Given the description of an element on the screen output the (x, y) to click on. 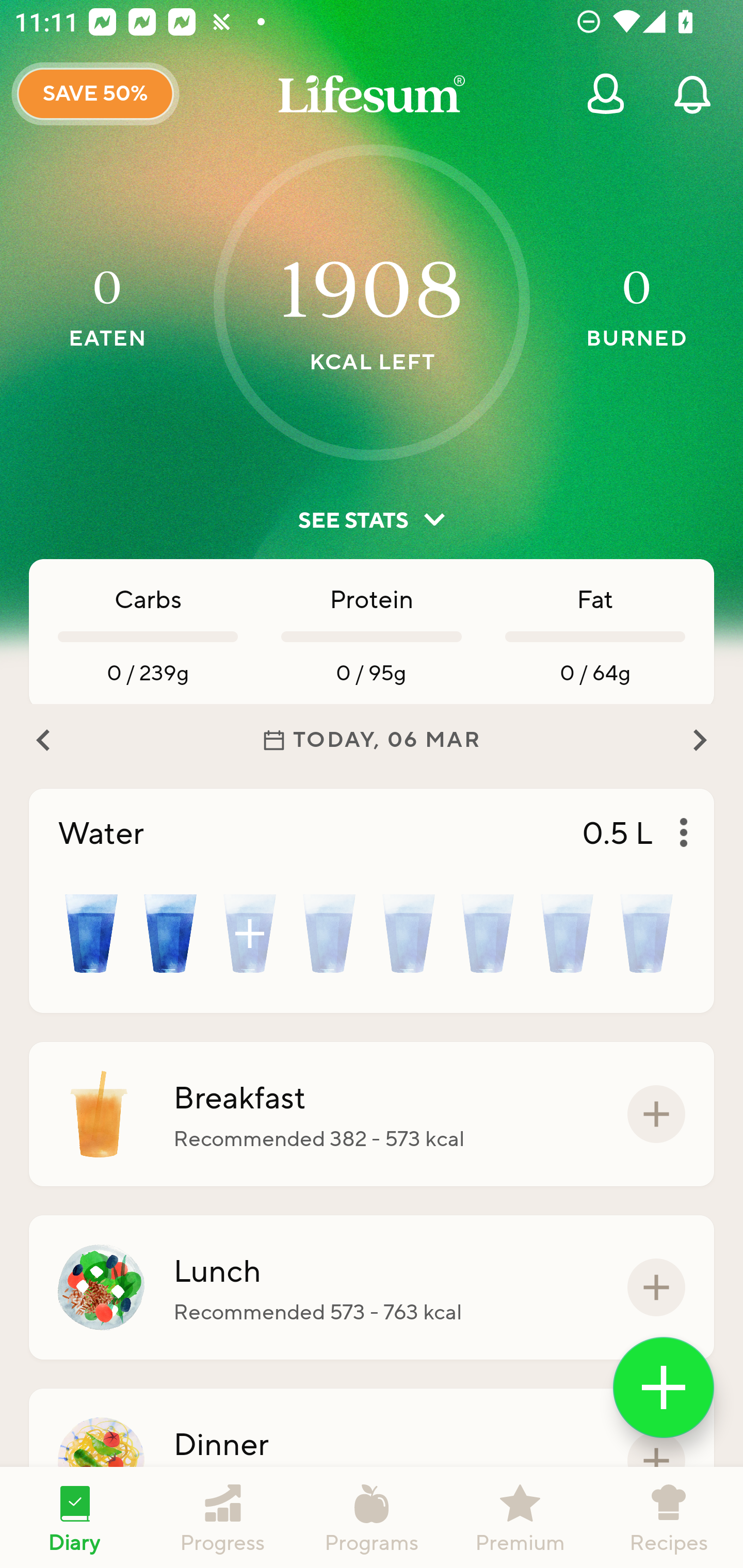
SEE STATS (371, 519)
TODAY, 06 MAR (371, 739)
Breakfast Recommended 382 - 573 kcal (371, 1113)
Lunch Recommended 573 - 763 kcal (371, 1287)
Dinner Recommended 573 - 763 kcal (371, 1461)
Progress (222, 1517)
Programs (371, 1517)
Premium (519, 1517)
Recipes (668, 1517)
